Given the description of an element on the screen output the (x, y) to click on. 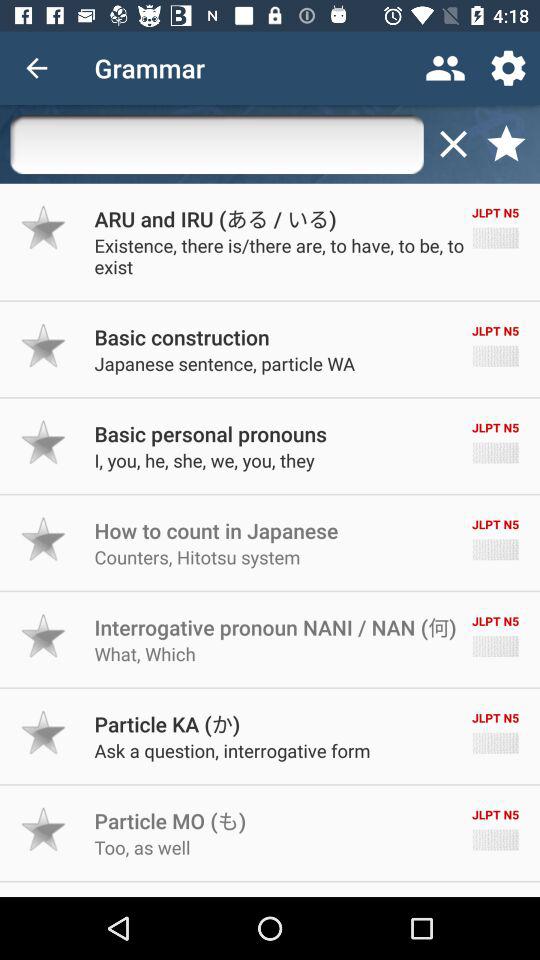
select as favorite (44, 345)
